Given the description of an element on the screen output the (x, y) to click on. 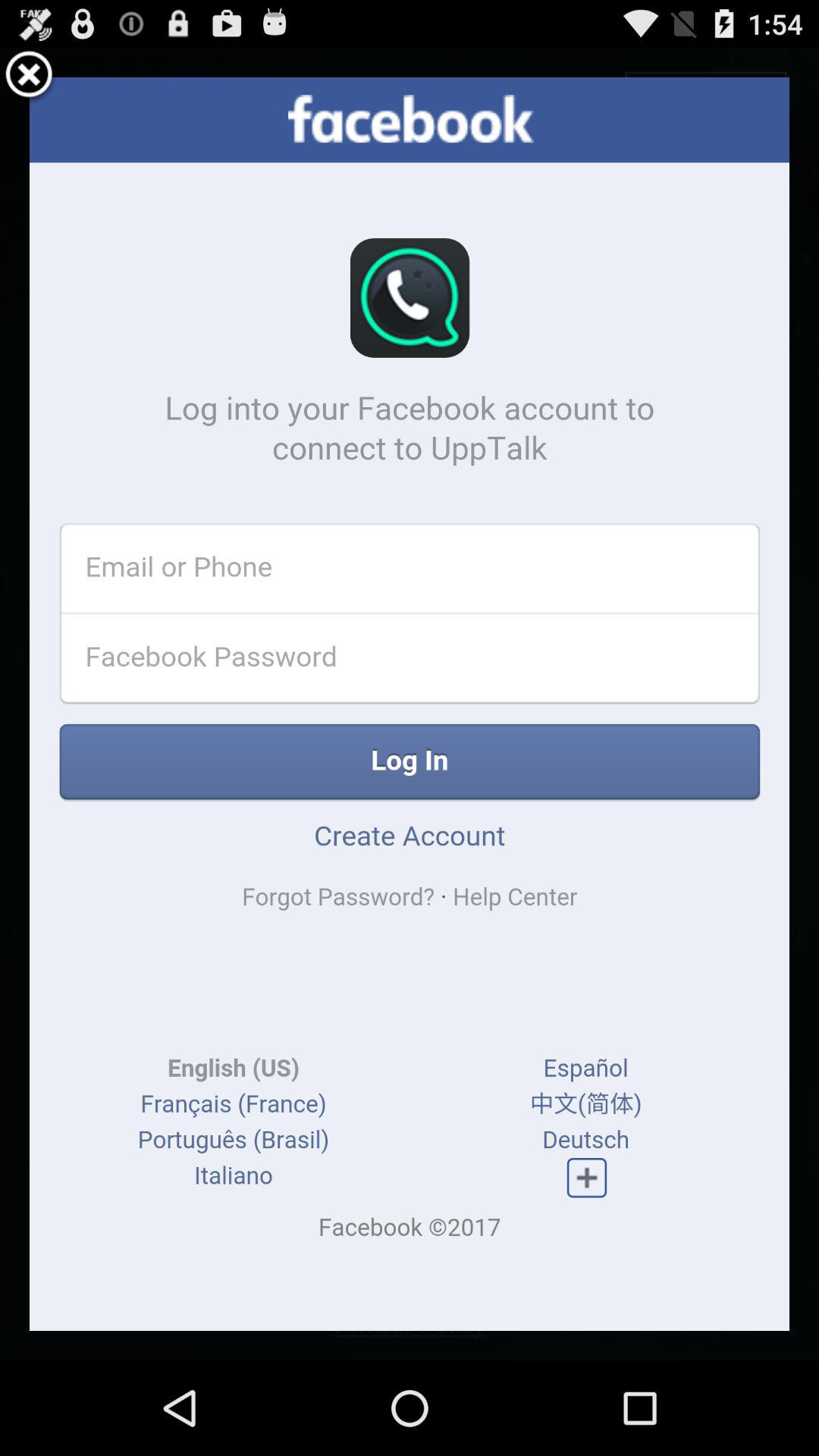
close (29, 76)
